Given the description of an element on the screen output the (x, y) to click on. 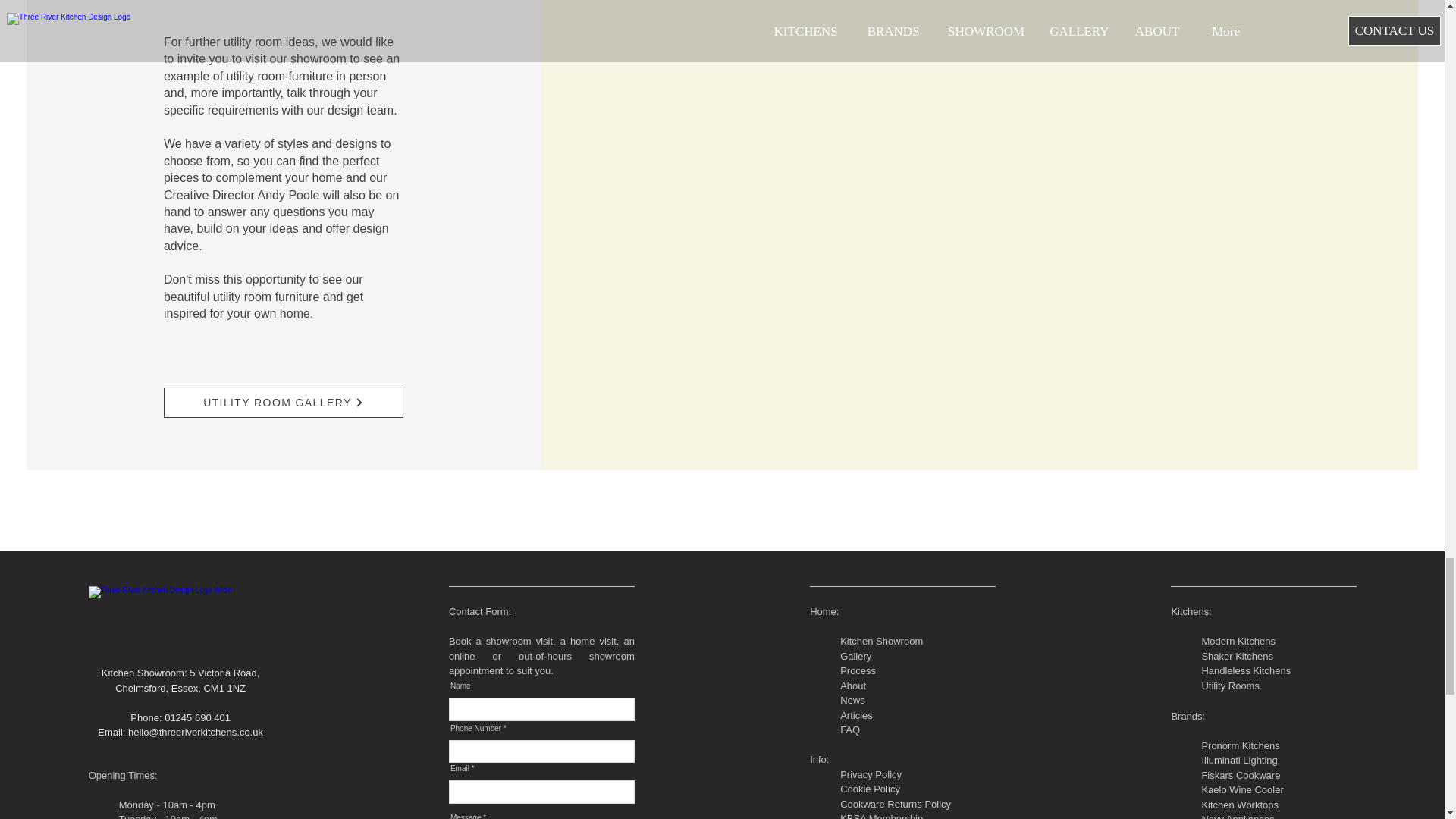
FAQ (850, 729)
Process (858, 670)
News (852, 699)
Cookware Returns Policy (895, 803)
UTILITY ROOM GALLERY (283, 402)
01245 690 401 (197, 716)
5 Victoria Road, Chelmsford, Essex, CM1 1NZ (187, 680)
About (853, 685)
Cookie Policy (869, 788)
Home (822, 611)
